Given the description of an element on the screen output the (x, y) to click on. 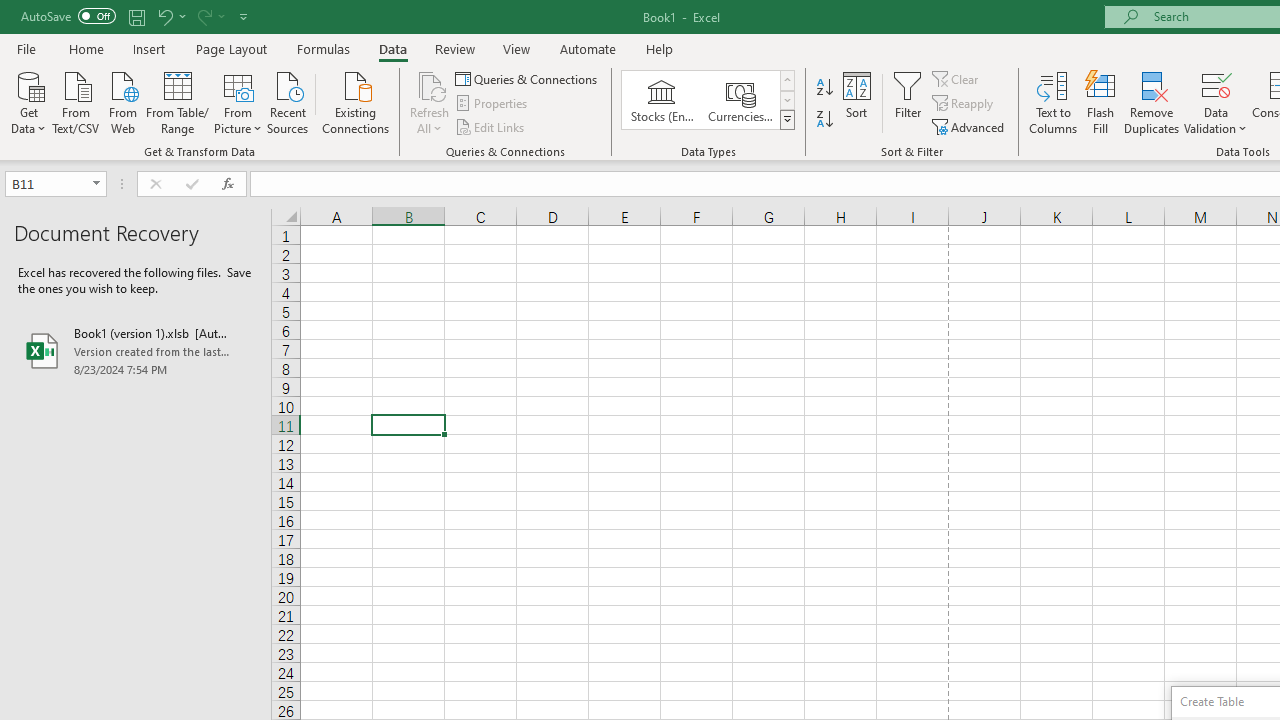
View (517, 48)
AutomationID: ConvertToLinkedEntity (708, 99)
From Text/CSV (75, 101)
Formulas (323, 48)
Edit Links (491, 126)
System (10, 11)
Help (660, 48)
Existing Connections (355, 101)
Name Box (56, 183)
Automate (588, 48)
Refresh All (429, 102)
Class: NetUIImage (787, 119)
Sort A to Z (824, 87)
System (10, 11)
Data Validation... (1215, 84)
